Given the description of an element on the screen output the (x, y) to click on. 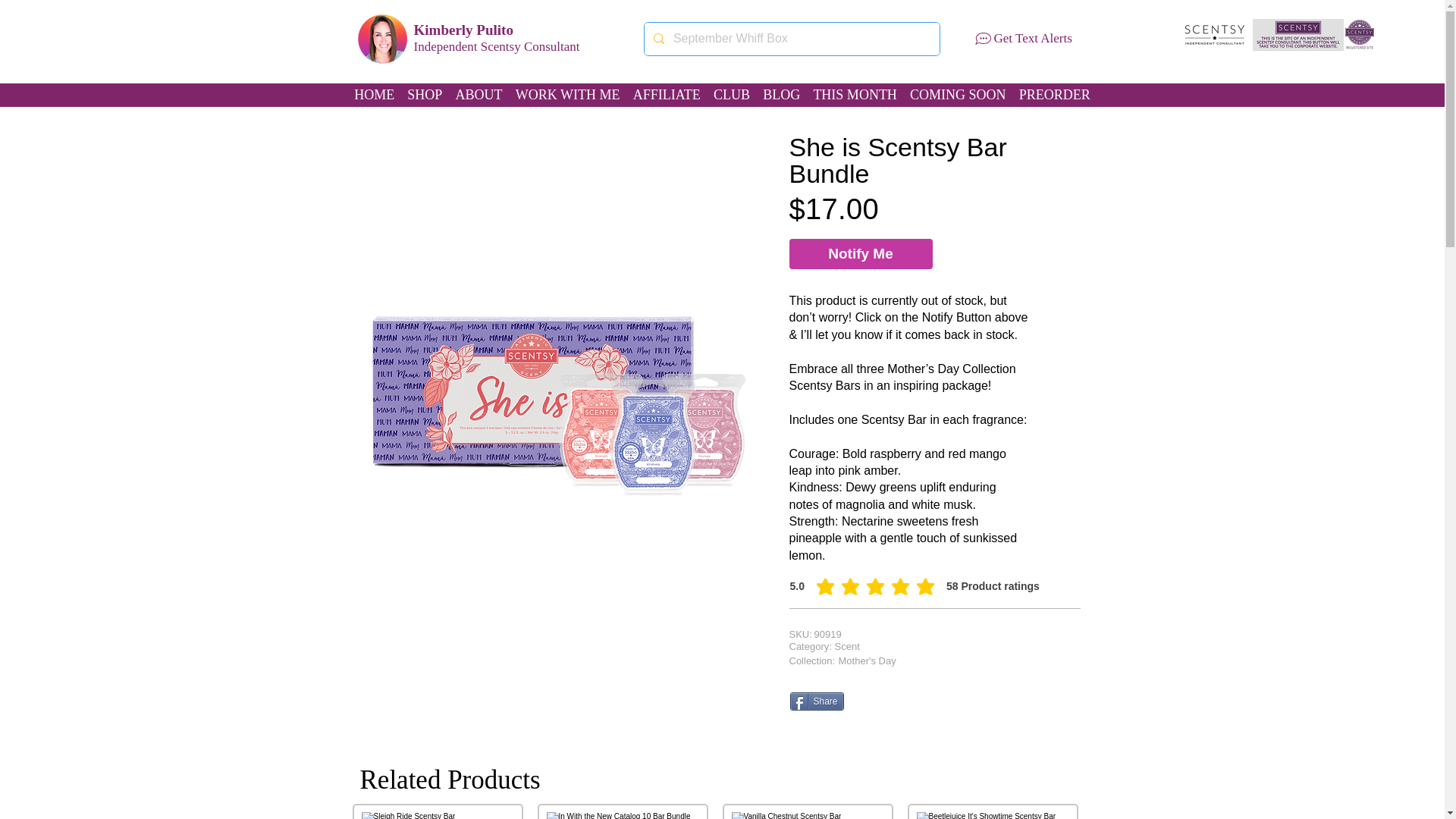
WORK WITH ME (567, 95)
Share (817, 701)
Notify Me (860, 254)
COMING SOON (957, 95)
Vanilla Chestnut Scentsy Bar (807, 815)
HOME (373, 95)
Get Text Alerts (1031, 38)
BLOG (781, 95)
PREORDER (1053, 95)
CLUB (731, 95)
